Given the description of an element on the screen output the (x, y) to click on. 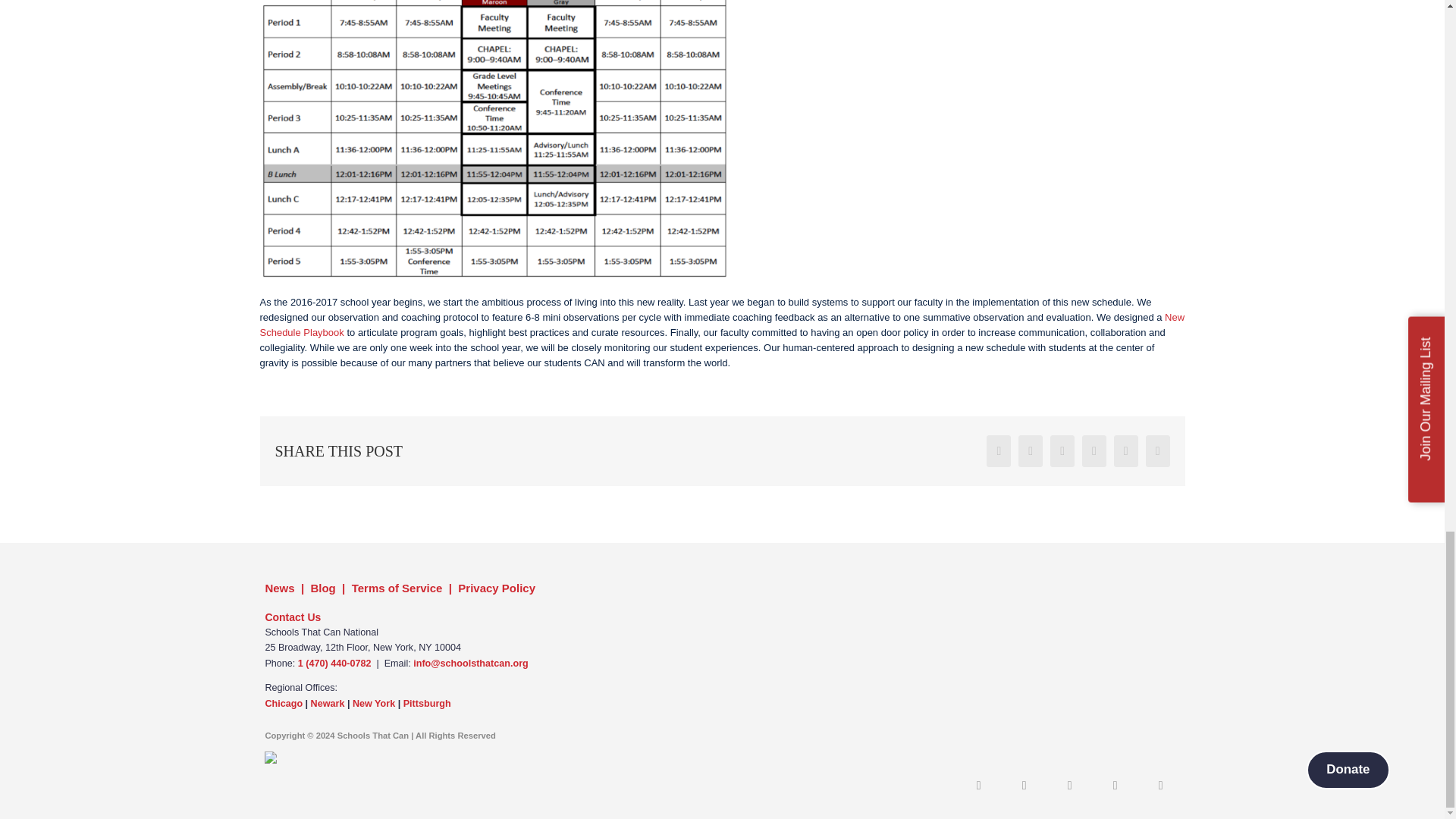
Instagram (1024, 779)
Tumblr (1125, 450)
Facebook (998, 450)
Facebook (1070, 779)
LinkedIn (978, 779)
Pinterest (1157, 450)
Twitter (1029, 450)
Facebook (998, 450)
New Schedule Playbook (722, 325)
LinkedIn (1093, 450)
Reddit (1061, 450)
Twitter (1029, 450)
